Given the description of an element on the screen output the (x, y) to click on. 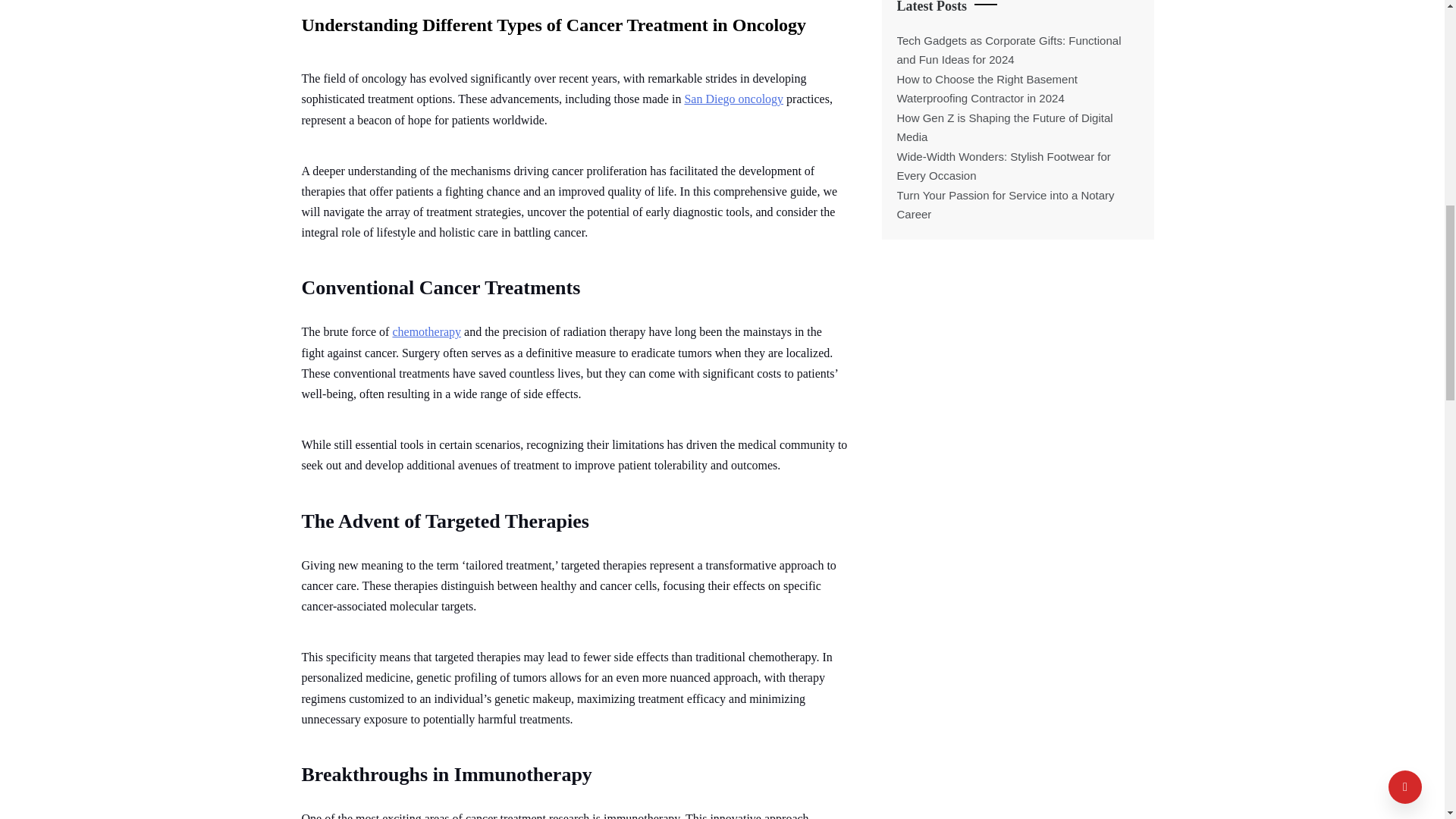
Turn Your Passion for Service into a Notary Career (1004, 205)
chemotherapy (426, 331)
How Gen Z is Shaping the Future of Digital Media (1004, 127)
Wide-Width Wonders: Stylish Footwear for Every Occasion (1002, 165)
San Diego oncology (733, 98)
